Given the description of an element on the screen output the (x, y) to click on. 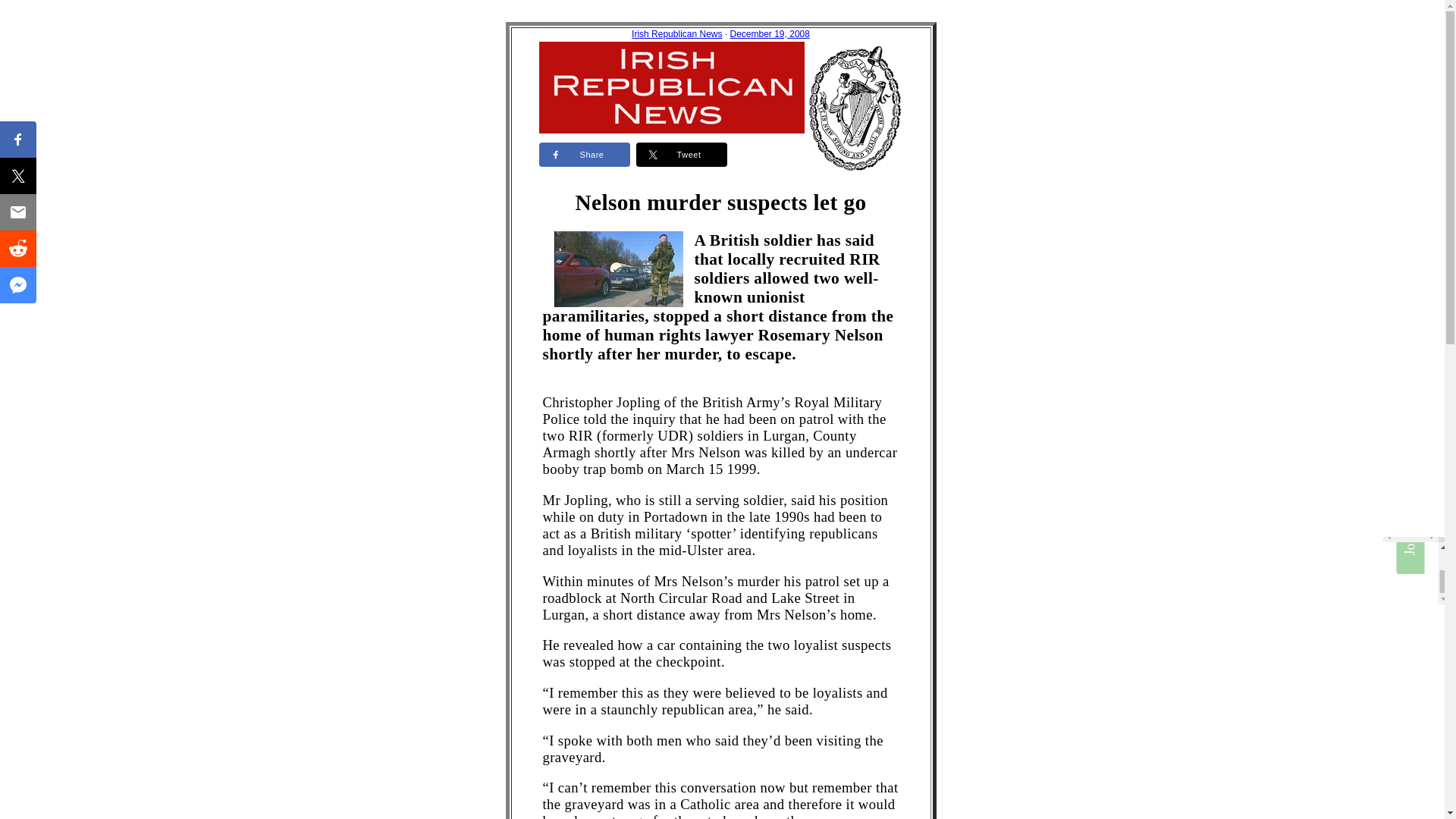
Irish Republican News (676, 33)
December 19, 2008 (769, 33)
